Given the description of an element on the screen output the (x, y) to click on. 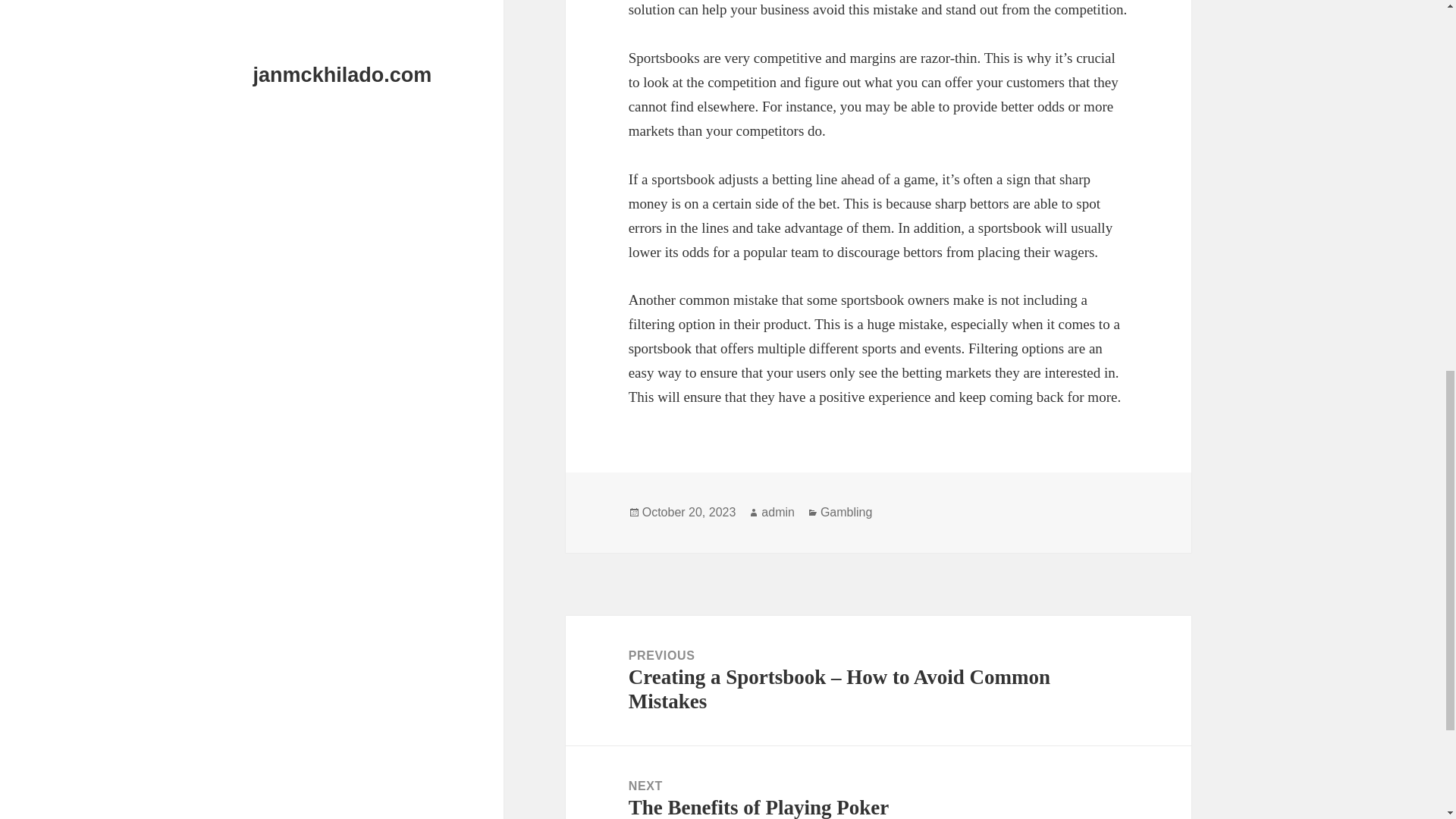
October 20, 2023 (689, 512)
admin (777, 512)
Gambling (846, 512)
